Given the description of an element on the screen output the (x, y) to click on. 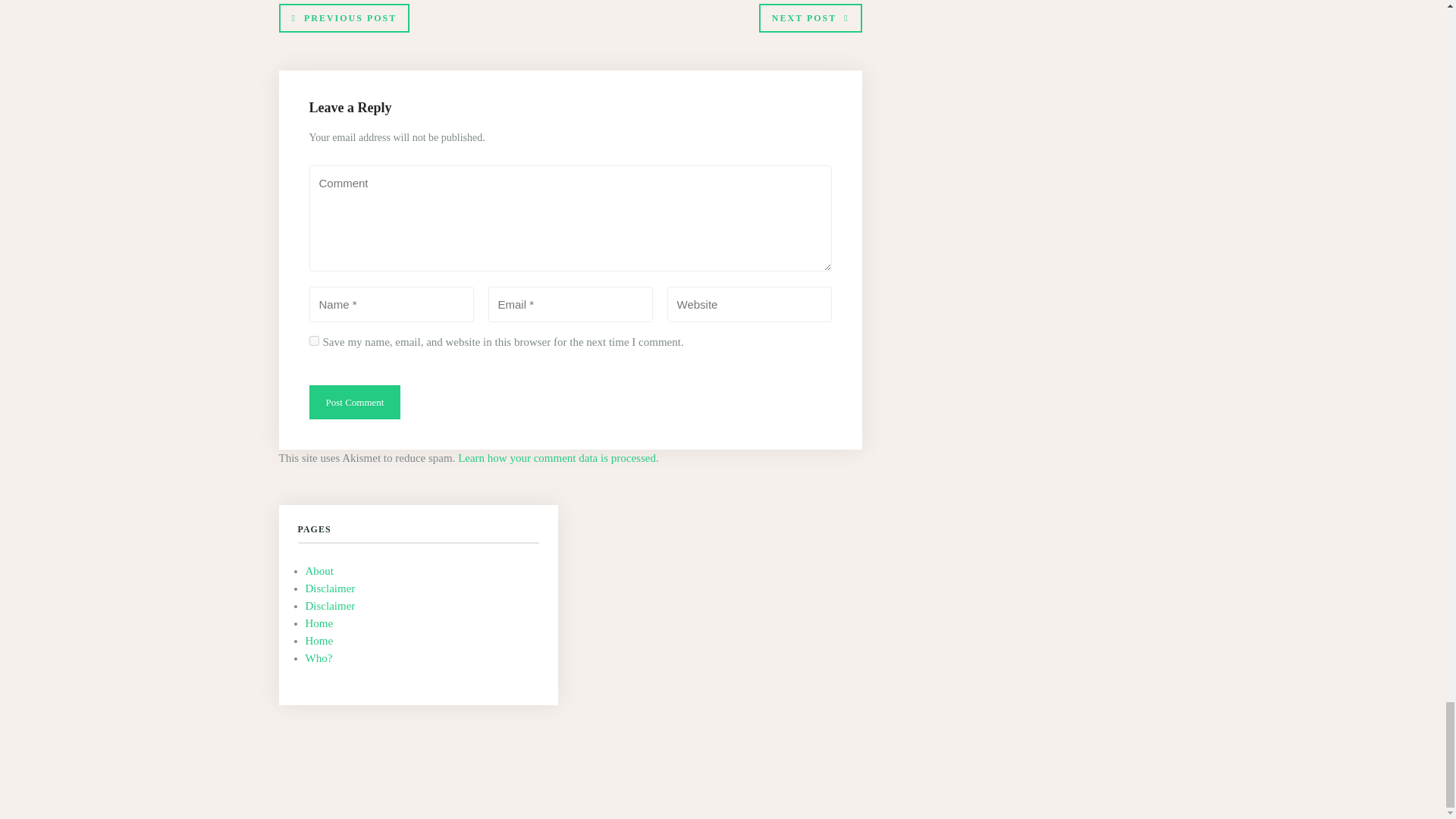
Post Comment (354, 401)
yes (313, 340)
PREVIOUS POST (344, 18)
Learn how your comment data is processed (557, 458)
NEXT POST (809, 18)
Post Comment (354, 401)
